Given the description of an element on the screen output the (x, y) to click on. 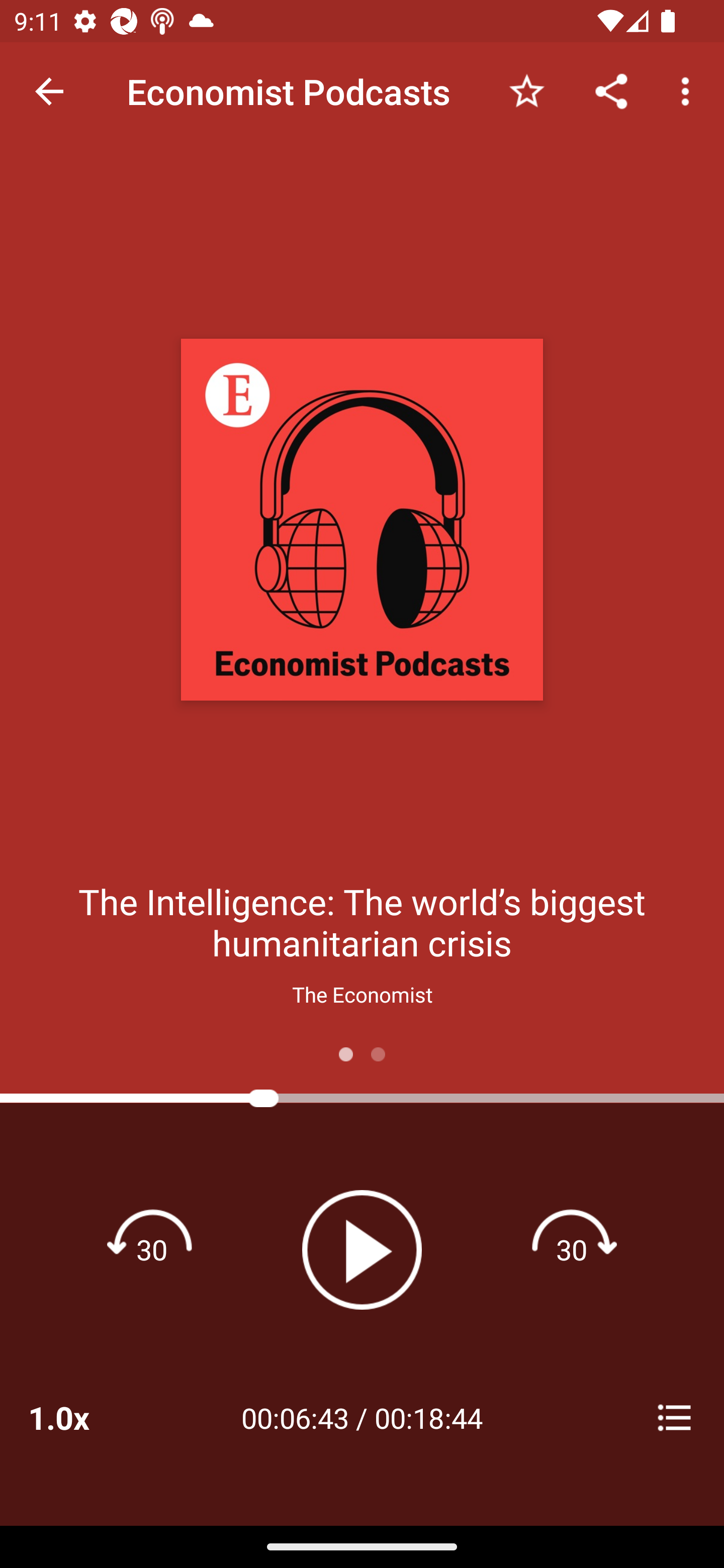
Navigate up (49, 91)
Add to Favorites (526, 90)
Share... (611, 90)
More options (688, 90)
The Economist (361, 994)
Play (361, 1249)
Rewind (151, 1249)
Fast forward (571, 1249)
1.0x Playback Speeds (84, 1417)
00:18:44 (428, 1417)
